Given the description of an element on the screen output the (x, y) to click on. 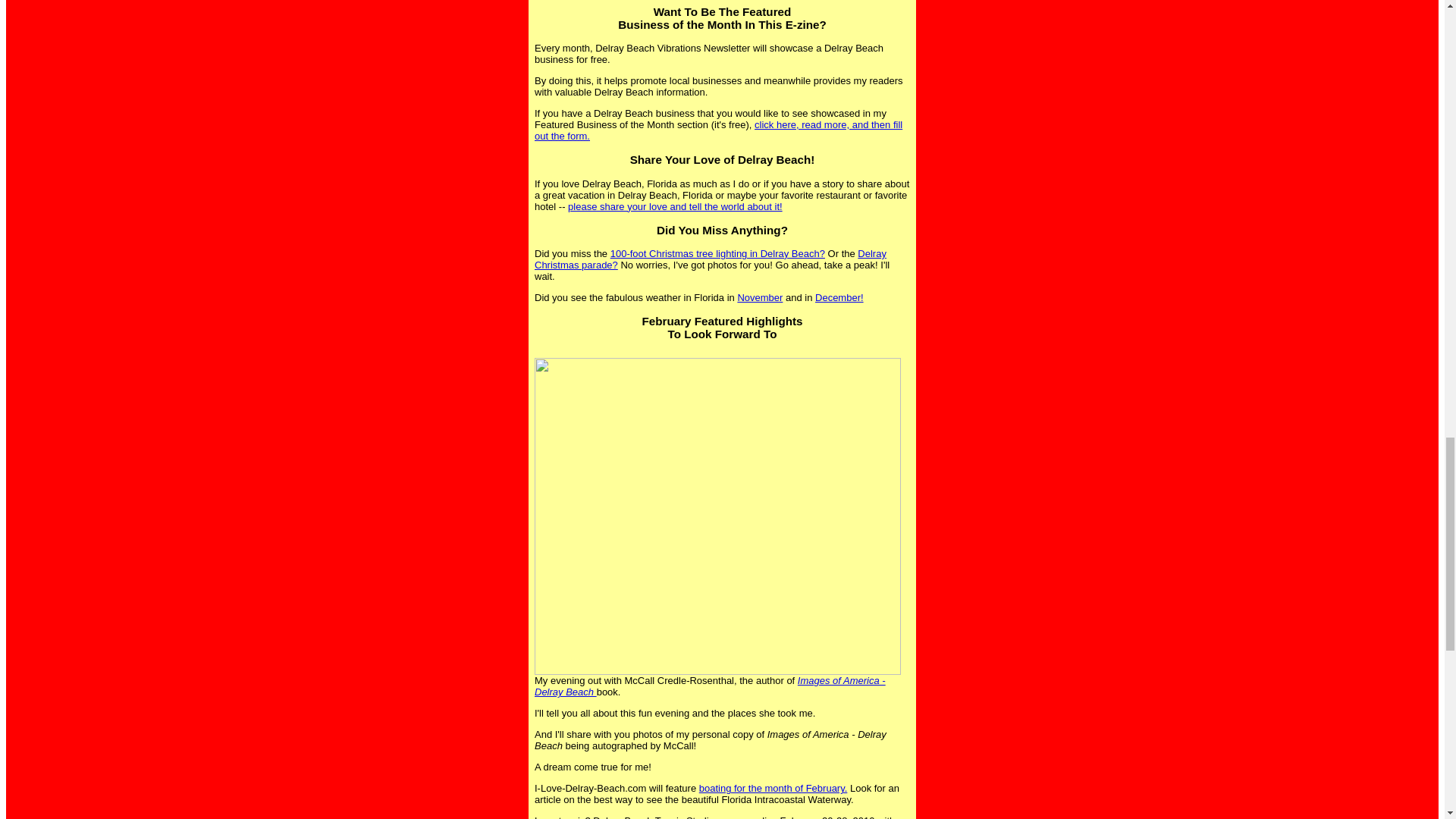
Images of America - Delray Beach (709, 685)
December! (839, 297)
Delray Christmas parade? (710, 259)
boating for the month of February. (772, 787)
100-foot Christmas tree lighting in Delray Beach? (717, 253)
click here, read more, and then fill out the form. (718, 129)
November (759, 297)
please share your love and tell the world about it! (675, 206)
